Given the description of an element on the screen output the (x, y) to click on. 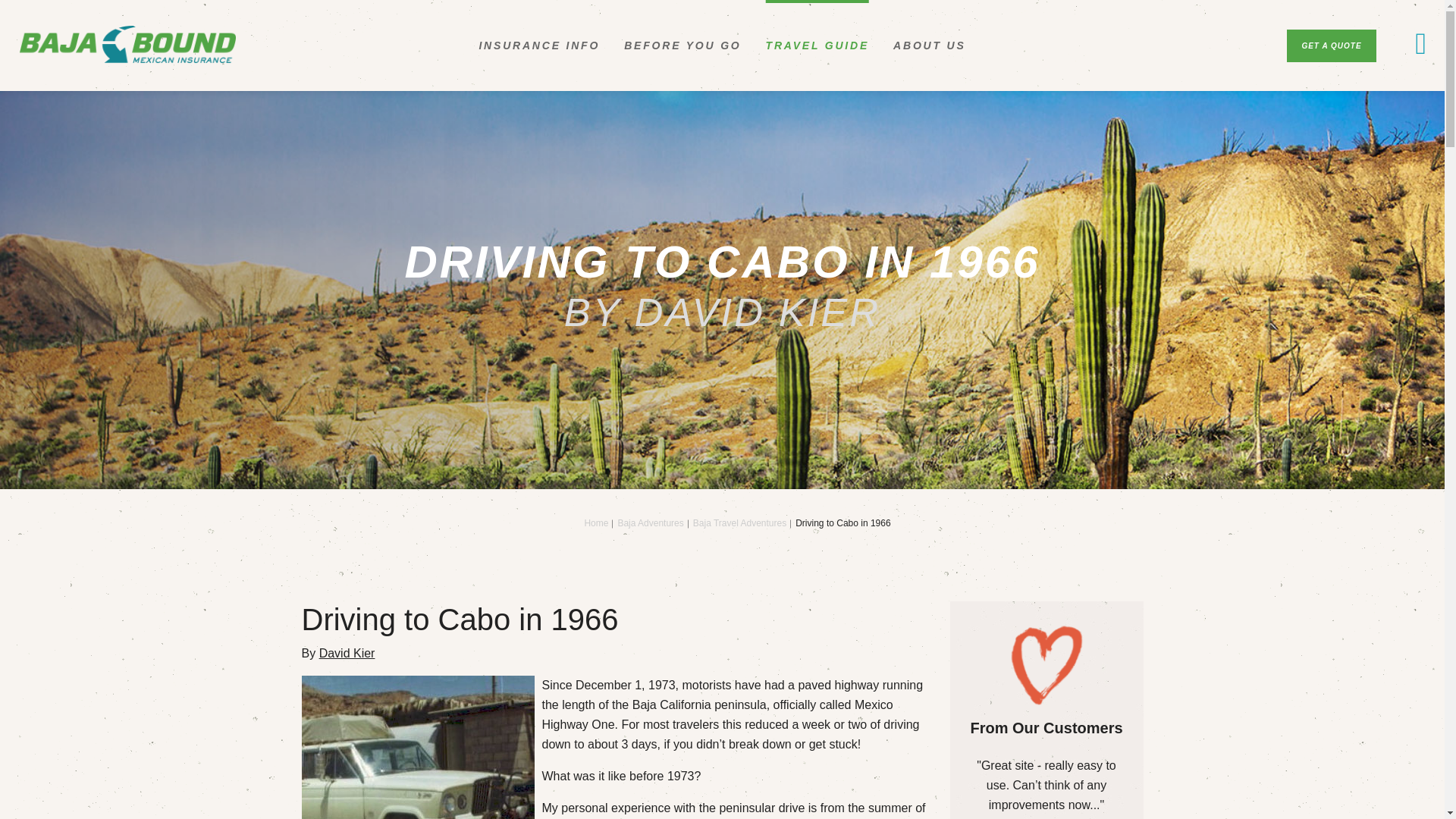
Baja Travel Adventures (739, 522)
BEFORE YOU GO (682, 45)
Home (595, 522)
TRAVEL GUIDE (817, 45)
Driving to Cabo in 1966 (841, 522)
David Kier (346, 653)
ABOUT US (929, 45)
Baja Adventures (649, 522)
GET A QUOTE (1331, 45)
INSURANCE INFO (539, 45)
